Given the description of an element on the screen output the (x, y) to click on. 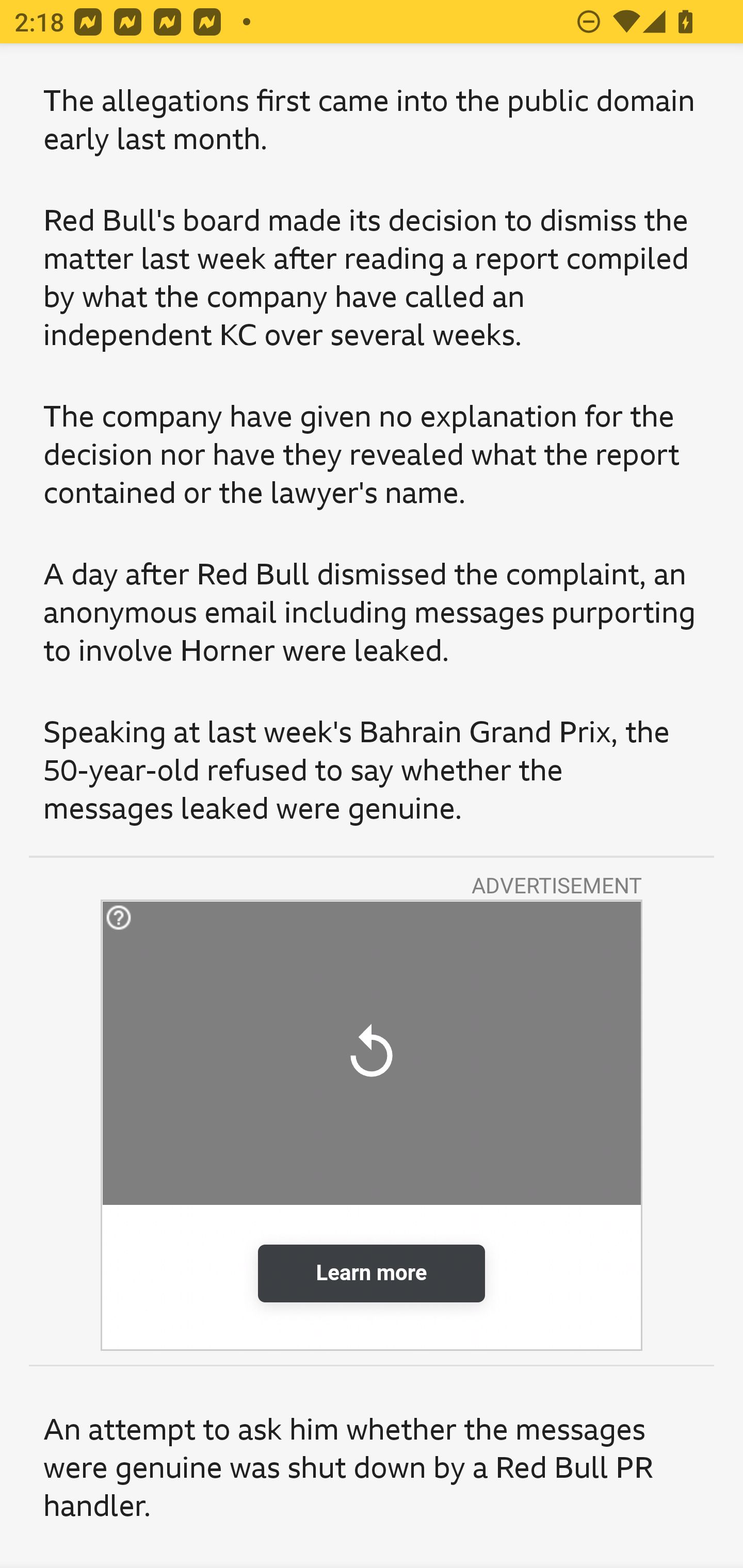
help_outline_white_24dp_with_3px_trbl_padding (191, 918)
Replay Learn more (371, 1125)
Replay (371, 1052)
Learn more (371, 1272)
